Given the description of an element on the screen output the (x, y) to click on. 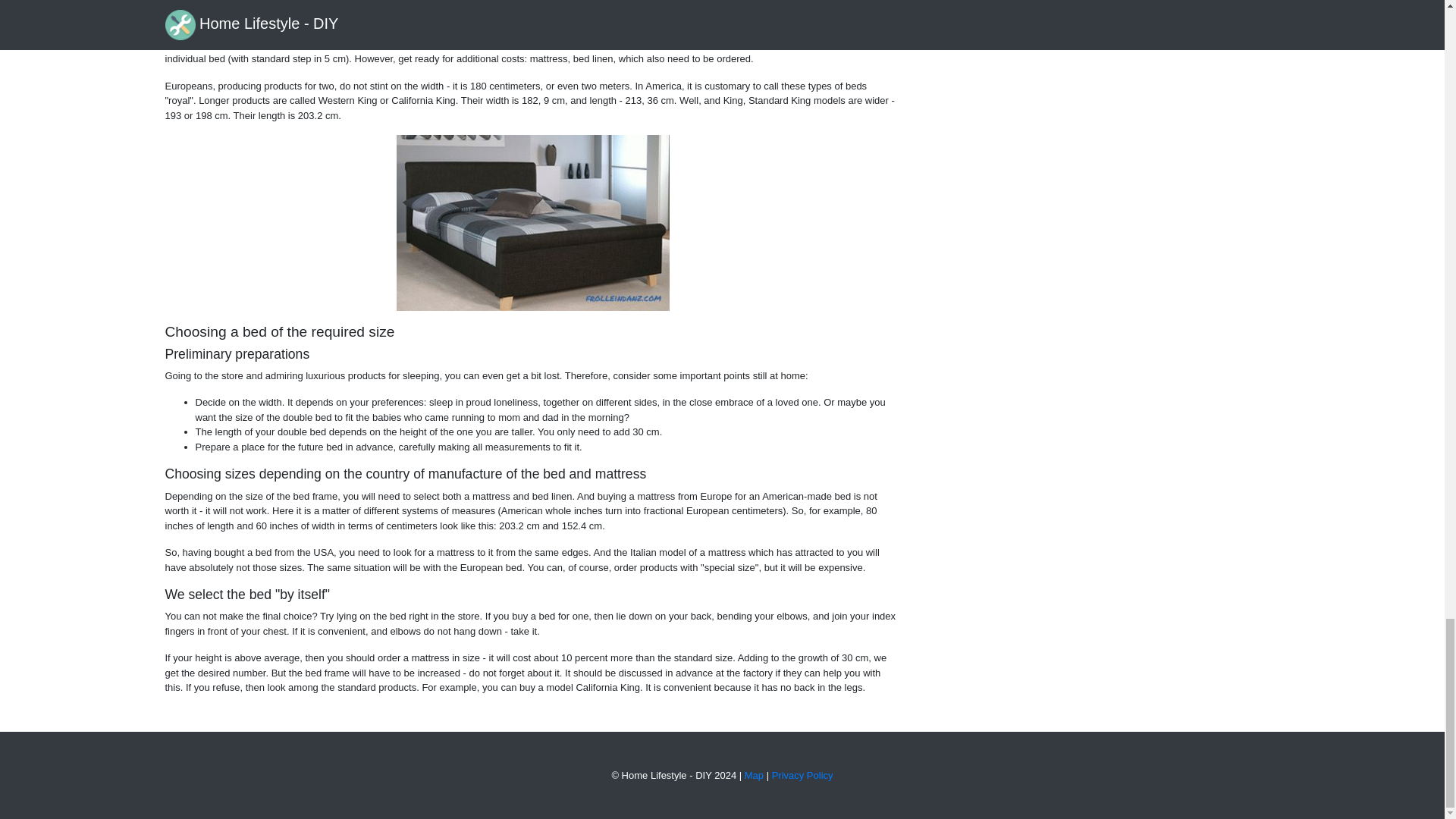
Privacy Policy (801, 775)
Map (753, 775)
